Given the description of an element on the screen output the (x, y) to click on. 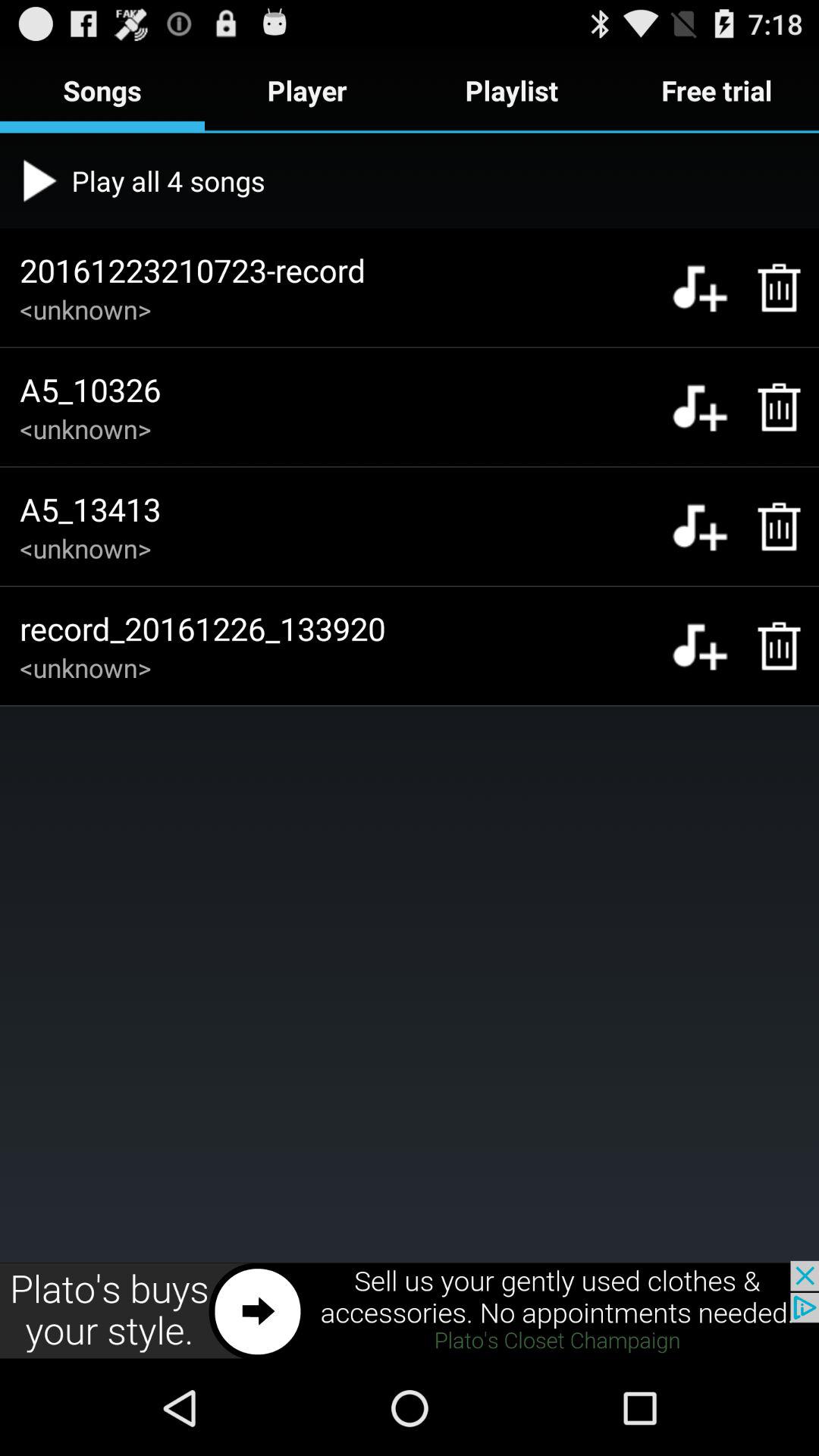
add to playlist (699, 287)
